Given the description of an element on the screen output the (x, y) to click on. 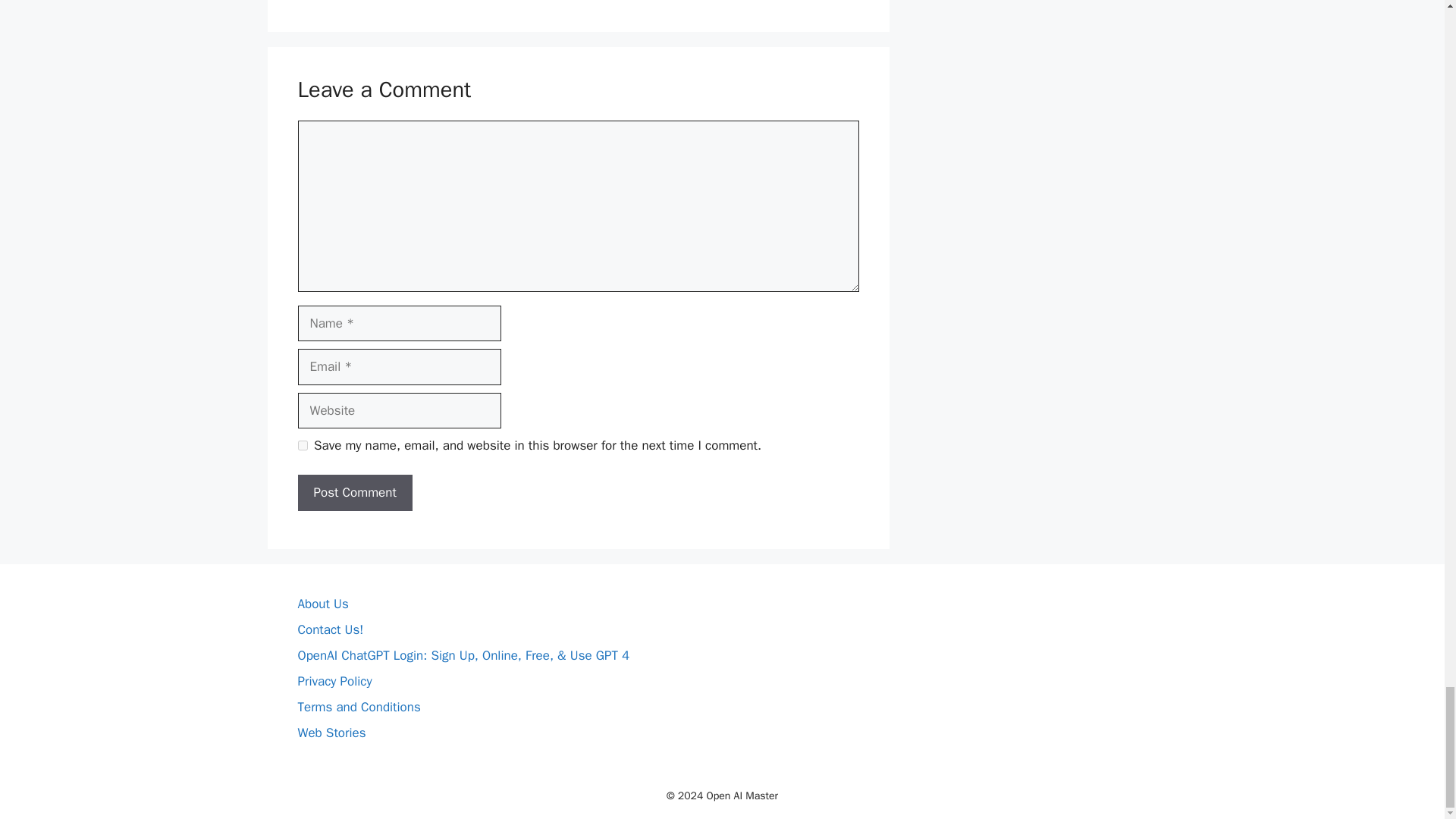
Post Comment (354, 493)
Post Comment (354, 493)
yes (302, 445)
